Given the description of an element on the screen output the (x, y) to click on. 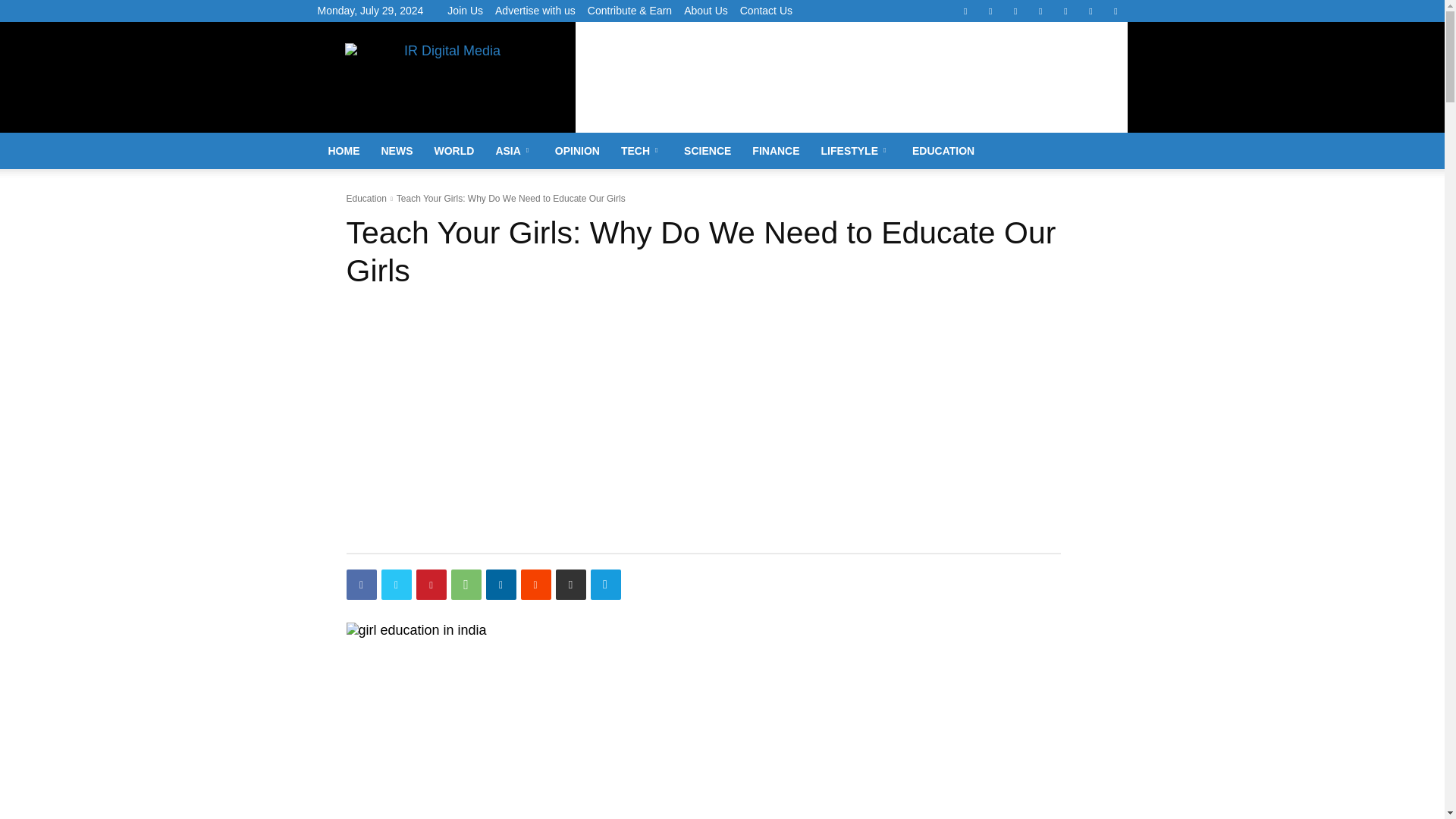
Telegram (1040, 10)
Contact Us (765, 10)
Facebook (964, 10)
Join Us (464, 10)
About Us (706, 10)
WhatsApp (1090, 10)
Advertisement (850, 91)
Advertise with us (535, 10)
IR Digital Media (446, 77)
Pinterest (1015, 10)
Youtube (1114, 10)
Twitter (1065, 10)
Linkedin (989, 10)
